Given the description of an element on the screen output the (x, y) to click on. 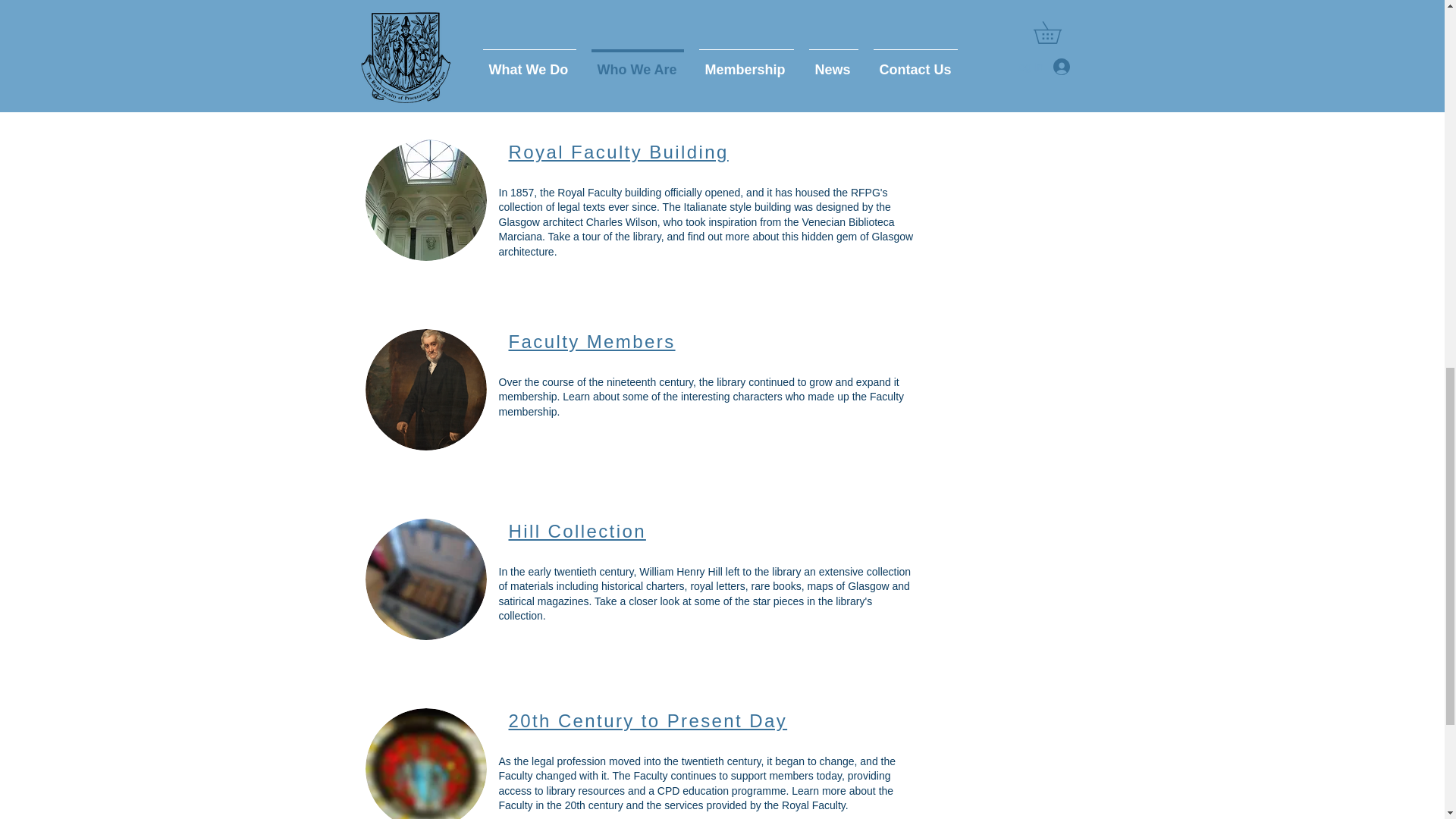
20th Century to Present Day (647, 720)
Royal Faculty Building (618, 151)
Faculty Members (591, 341)
Hill Collection (576, 530)
